Given the description of an element on the screen output the (x, y) to click on. 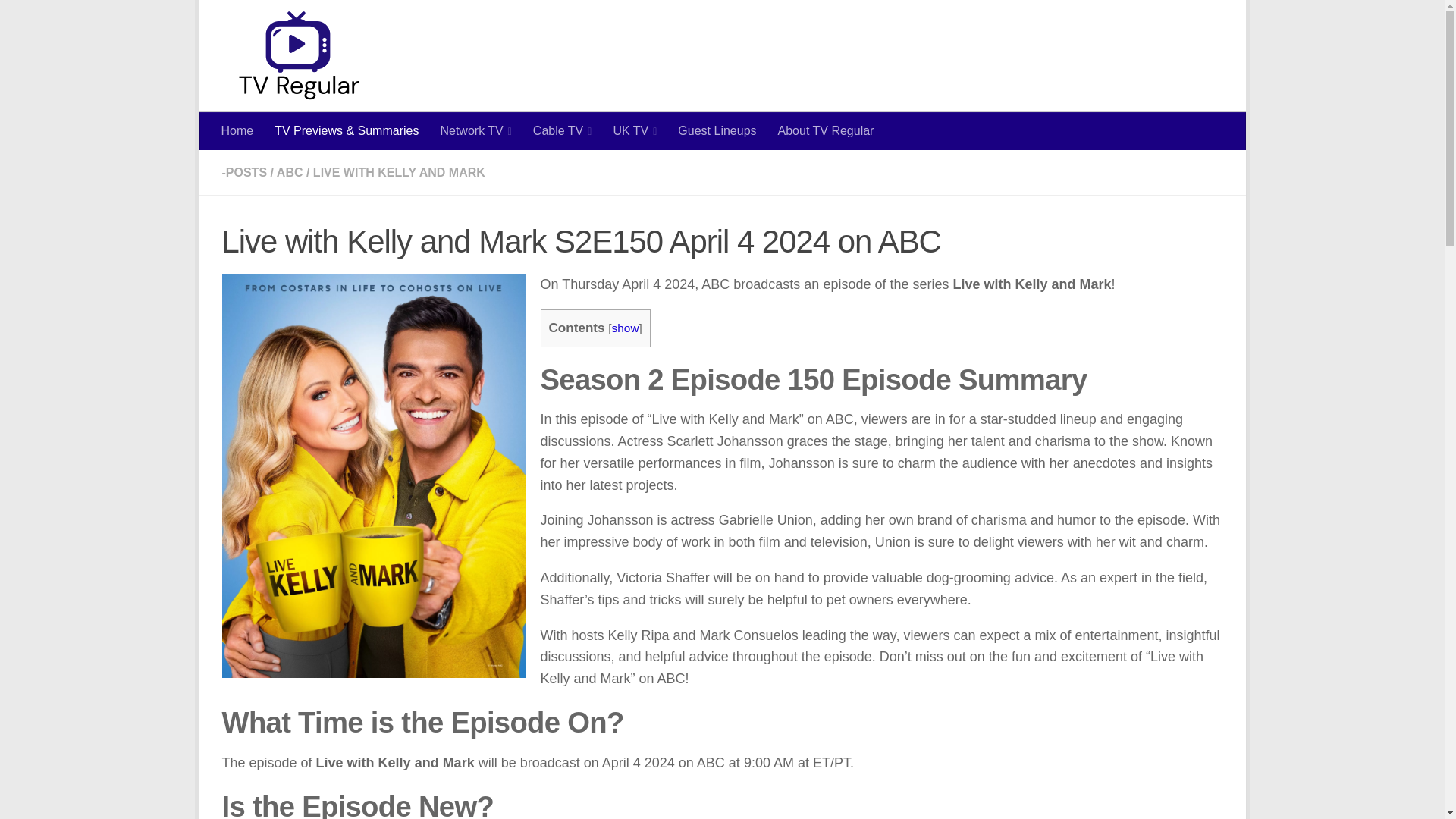
Skip to content (263, 20)
Advertisement (946, 60)
